Given the description of an element on the screen output the (x, y) to click on. 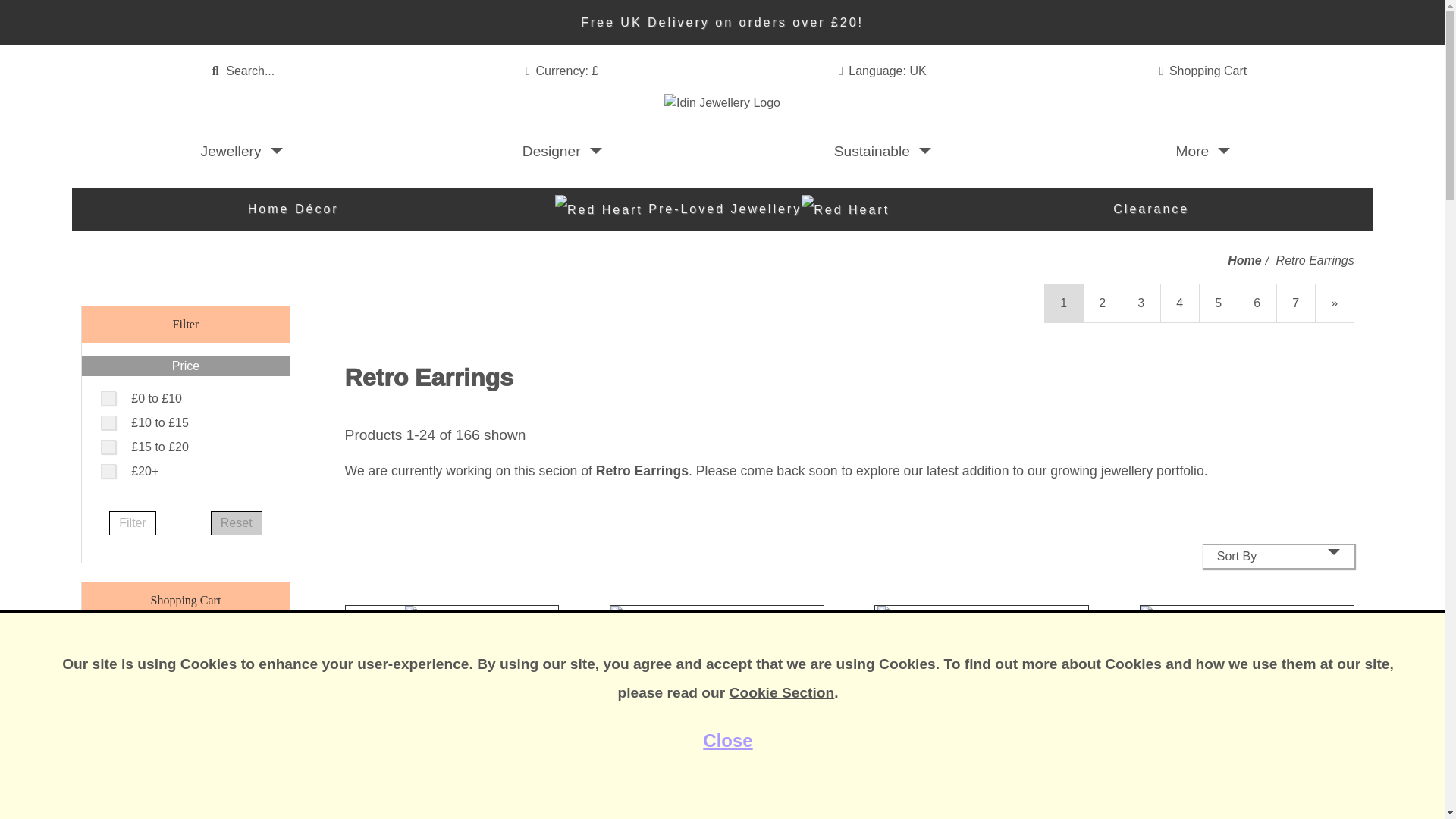
Jewellery (722, 165)
 Shopping Cart (241, 151)
Reset (1202, 71)
Designer (236, 523)
Clearance (561, 151)
Filter (1151, 208)
More (132, 523)
Sustainable (1202, 151)
 Pre-Loved Jewellery (882, 151)
